Given the description of an element on the screen output the (x, y) to click on. 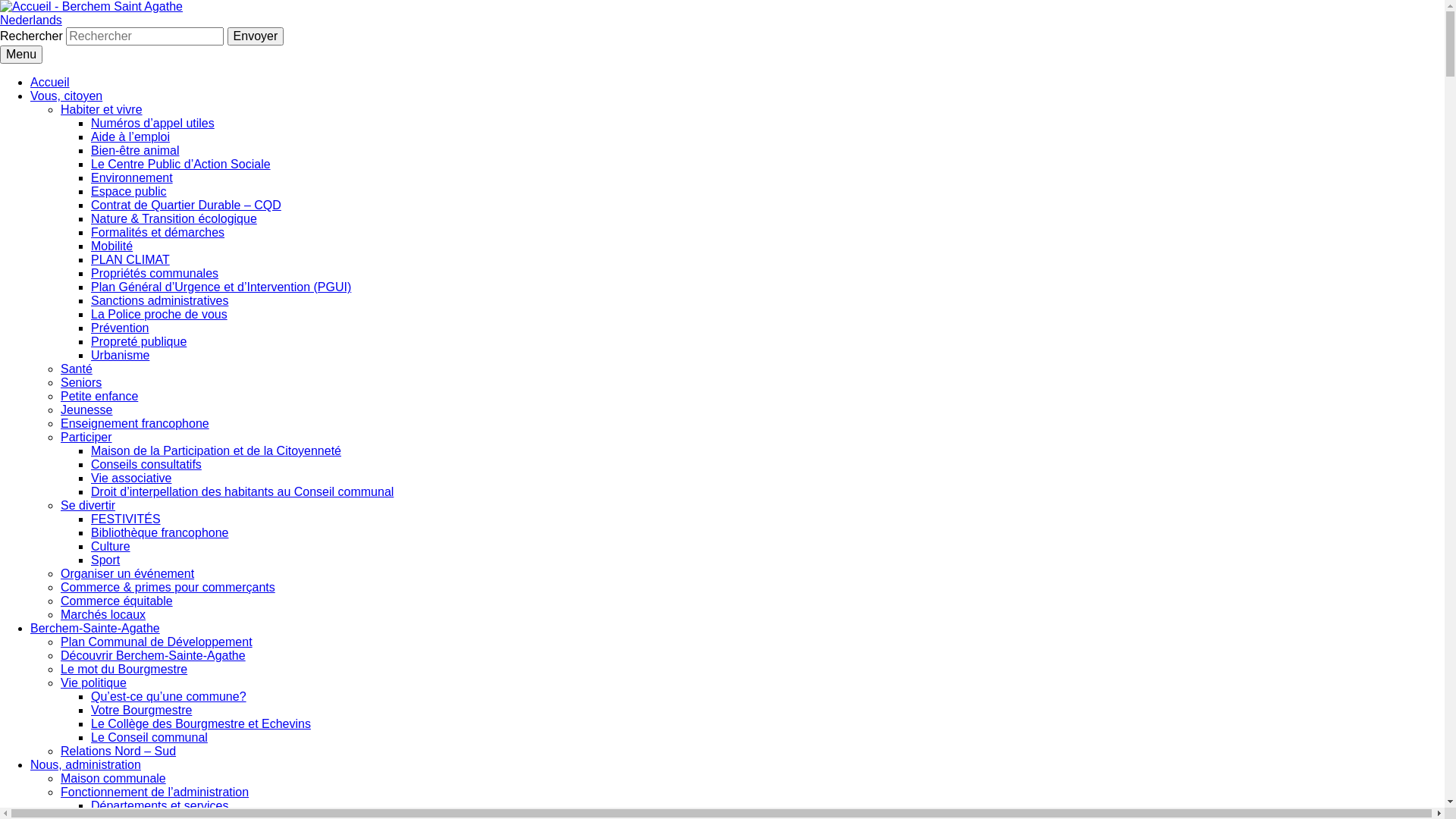
Espace public Element type: text (128, 191)
Jeunesse Element type: text (86, 409)
Accueil Element type: text (49, 81)
Maison communale Element type: text (113, 777)
Berchem-Sainte-Agathe Element type: text (95, 627)
Nederlands Element type: text (31, 19)
Le mot du Bourgmestre Element type: text (123, 668)
Vous, citoyen Element type: text (66, 95)
Sport Element type: text (105, 559)
Petite enfance Element type: text (99, 395)
Conseils consultatifs Element type: text (146, 464)
Menu Element type: text (21, 54)
Environnement Element type: text (131, 177)
Se divertir Element type: text (87, 504)
Enseignement francophone Element type: text (134, 423)
La Police proche de vous Element type: text (159, 313)
Votre Bourgmestre Element type: text (141, 709)
PLAN CLIMAT Element type: text (130, 259)
Culture Element type: text (110, 545)
Nous, administration Element type: text (85, 764)
Vie politique Element type: text (93, 682)
Sanctions administratives Element type: text (159, 300)
Urbanisme Element type: text (120, 354)
Seniors Element type: text (80, 382)
Le Conseil communal Element type: text (149, 737)
Participer Element type: text (86, 436)
Vie associative Element type: text (131, 477)
Envoyer Element type: text (255, 36)
Habiter et vivre Element type: text (101, 109)
